Given the description of an element on the screen output the (x, y) to click on. 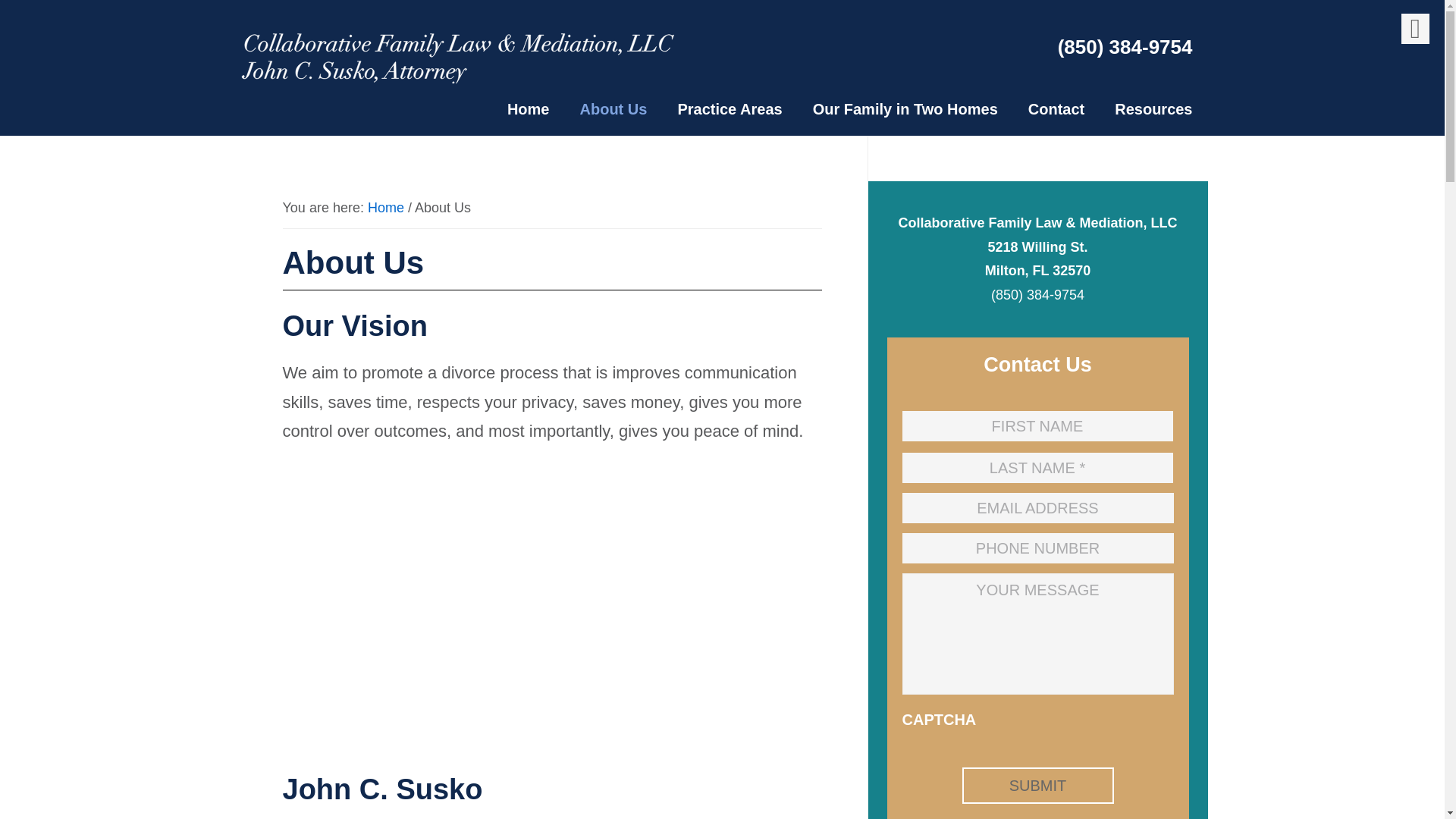
SHOW OFFSCREEN CONTENT (1414, 28)
Submit (1036, 785)
JOHN SUSKO (456, 56)
Our Family in Two Homes (905, 110)
Contact (1056, 110)
Practice Areas (729, 110)
Resources (1153, 110)
About Us (613, 110)
Home (528, 110)
